Given the description of an element on the screen output the (x, y) to click on. 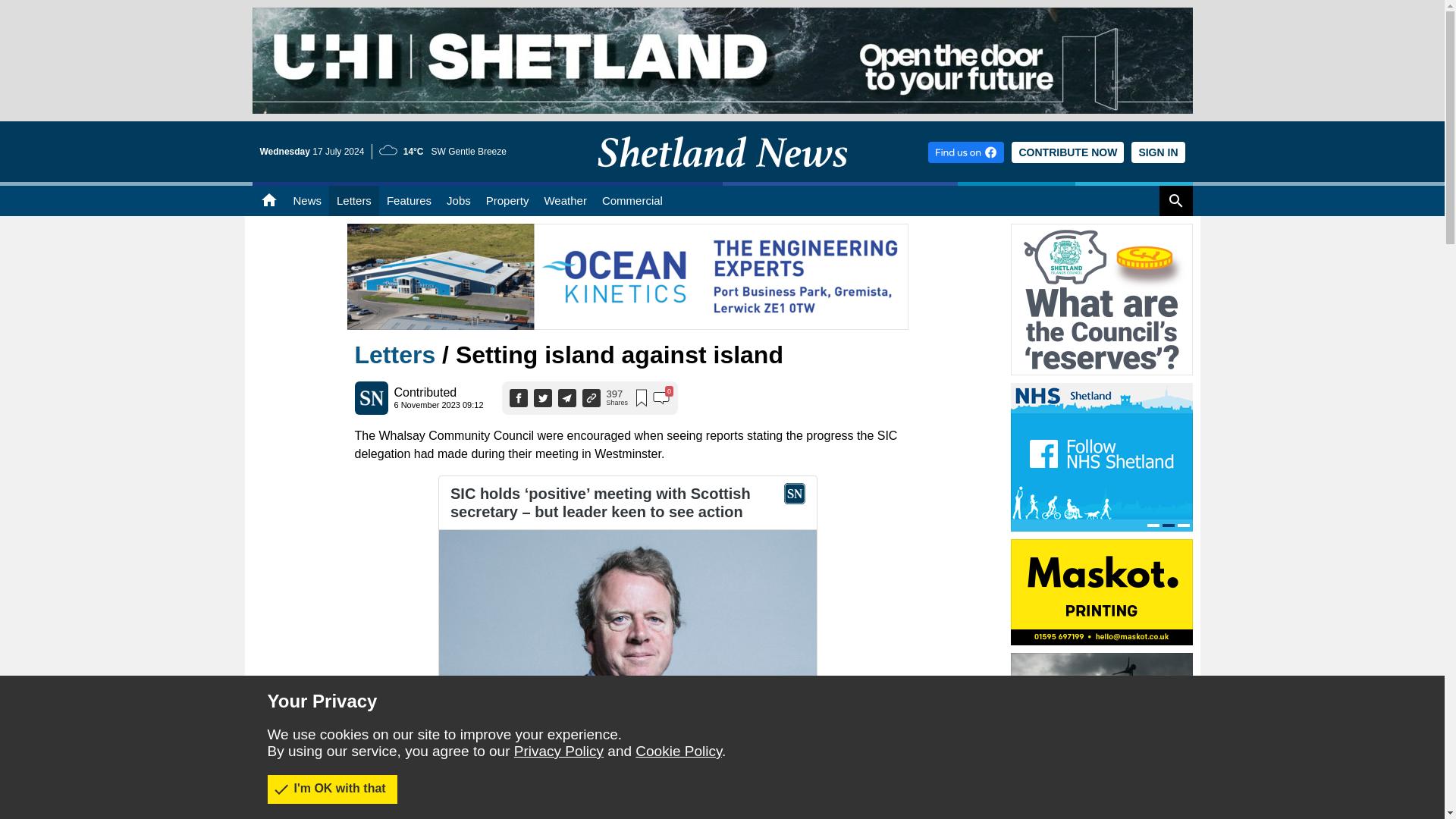
News (307, 200)
Find us on Facebook (966, 151)
Shetland News Login (1158, 151)
SIGN IN (1158, 151)
CONTRIBUTE NOW (1067, 151)
Home (268, 200)
Support Shetland News (1067, 151)
UHI Shetland - Open the door to your future (721, 13)
News (307, 200)
Shetland News Home (721, 177)
